Given the description of an element on the screen output the (x, y) to click on. 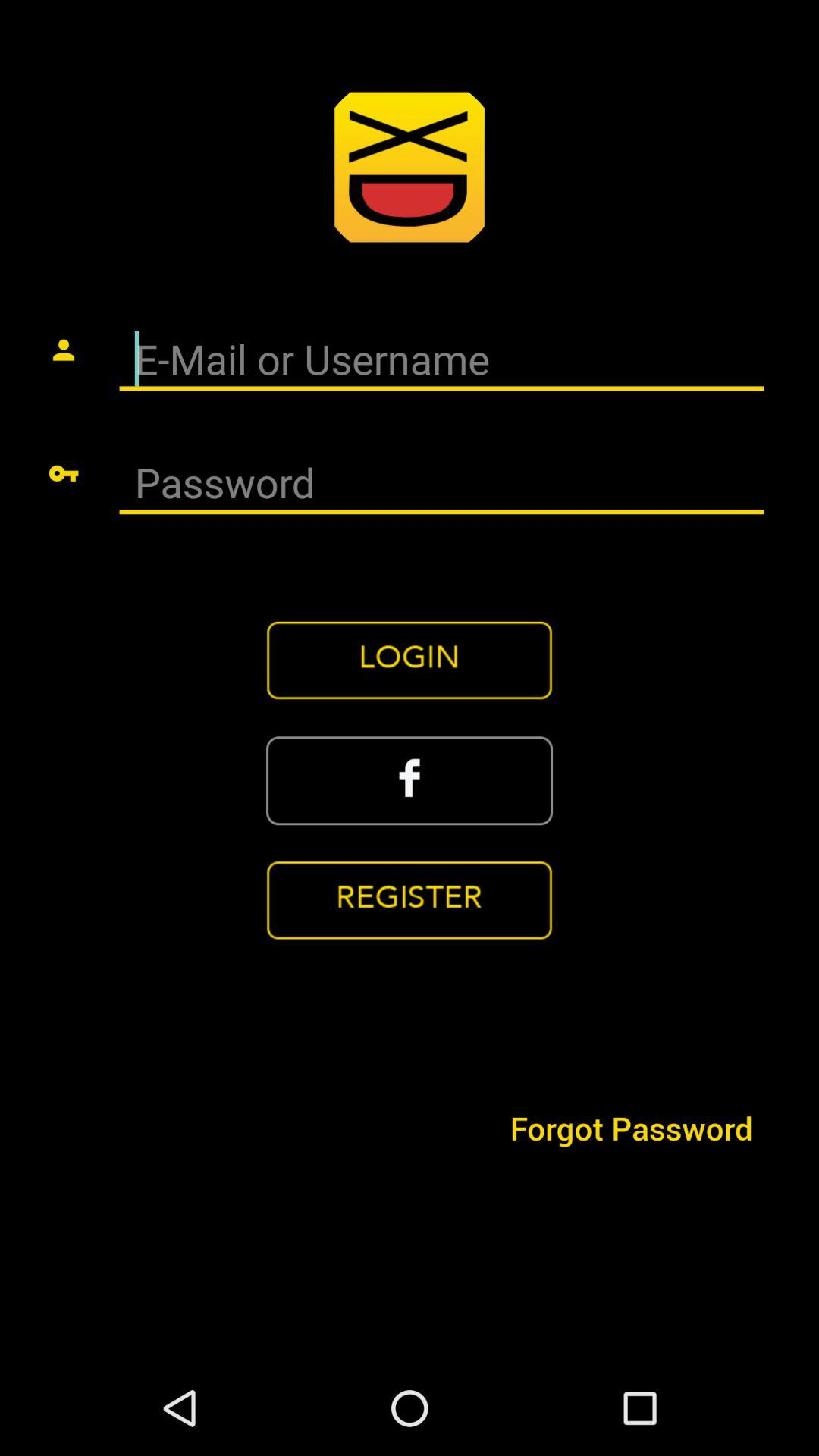
enter password info (441, 484)
